Given the description of an element on the screen output the (x, y) to click on. 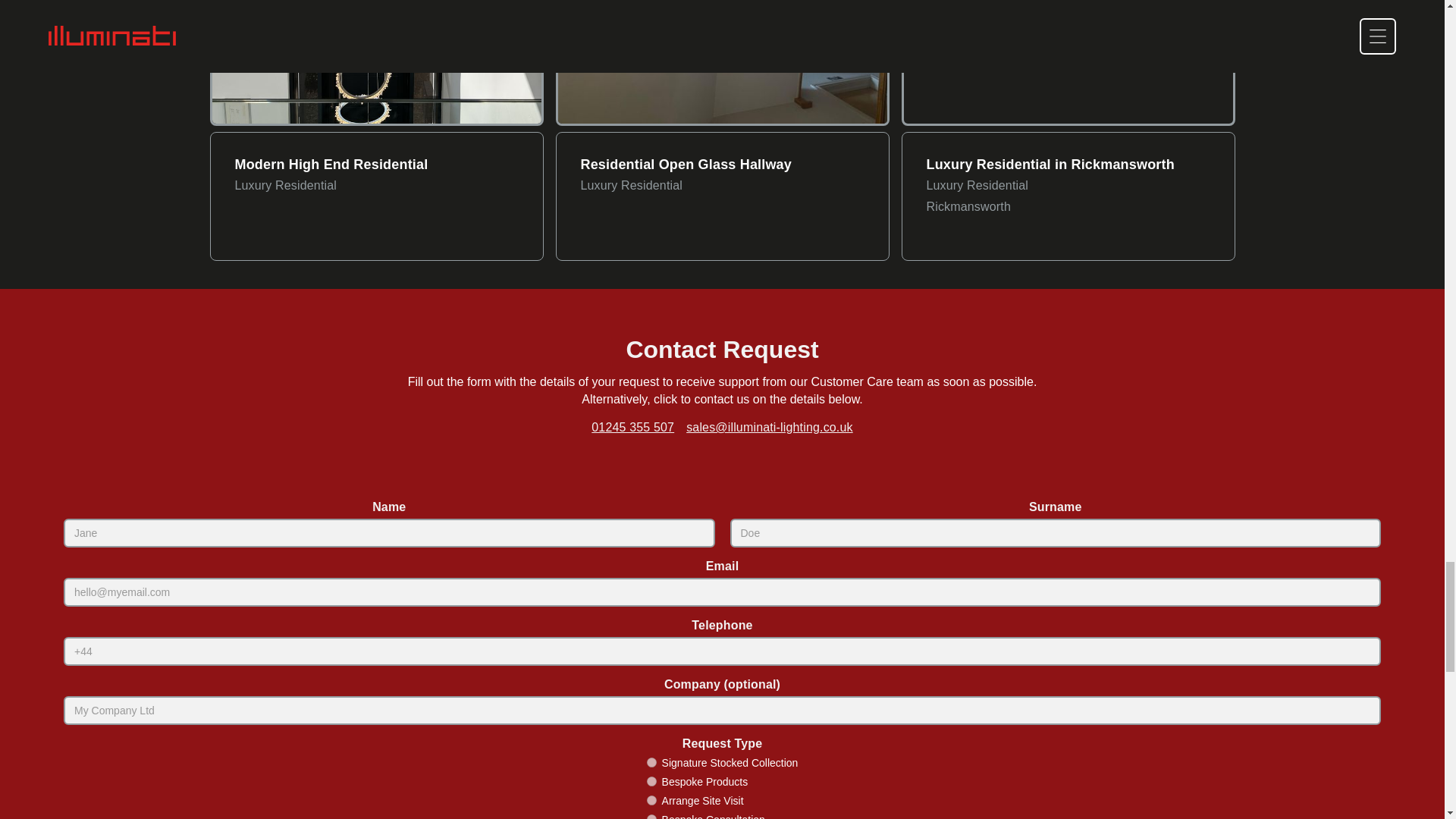
Bespoke Products (651, 781)
Signature Stocked Collection (651, 762)
Arrange Site Visit (651, 800)
Bespoke Consultation (651, 816)
